Given the description of an element on the screen output the (x, y) to click on. 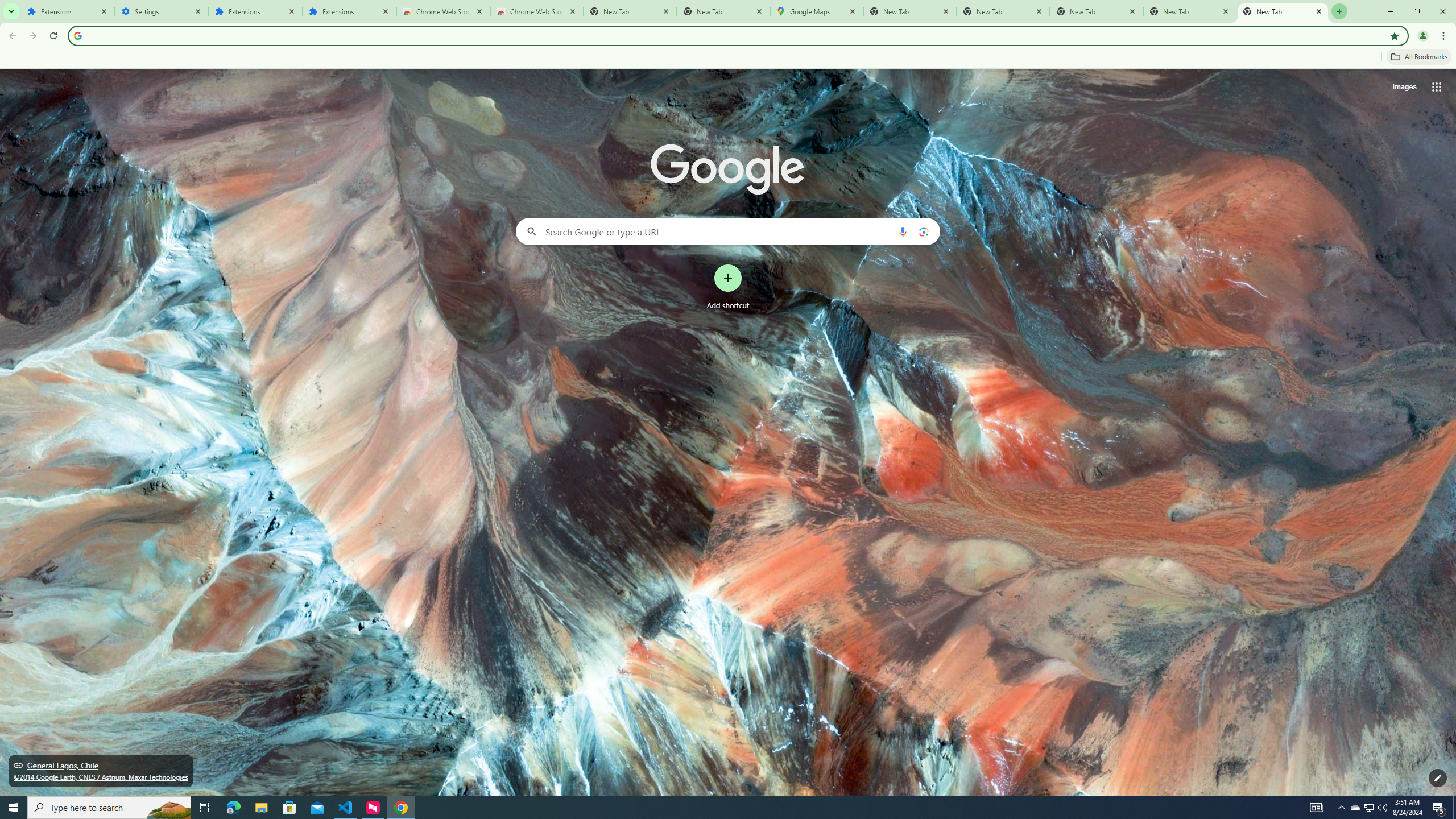
Chrome Web Store - Themes (536, 11)
Extensions (67, 11)
Extensions (255, 11)
